Given the description of an element on the screen output the (x, y) to click on. 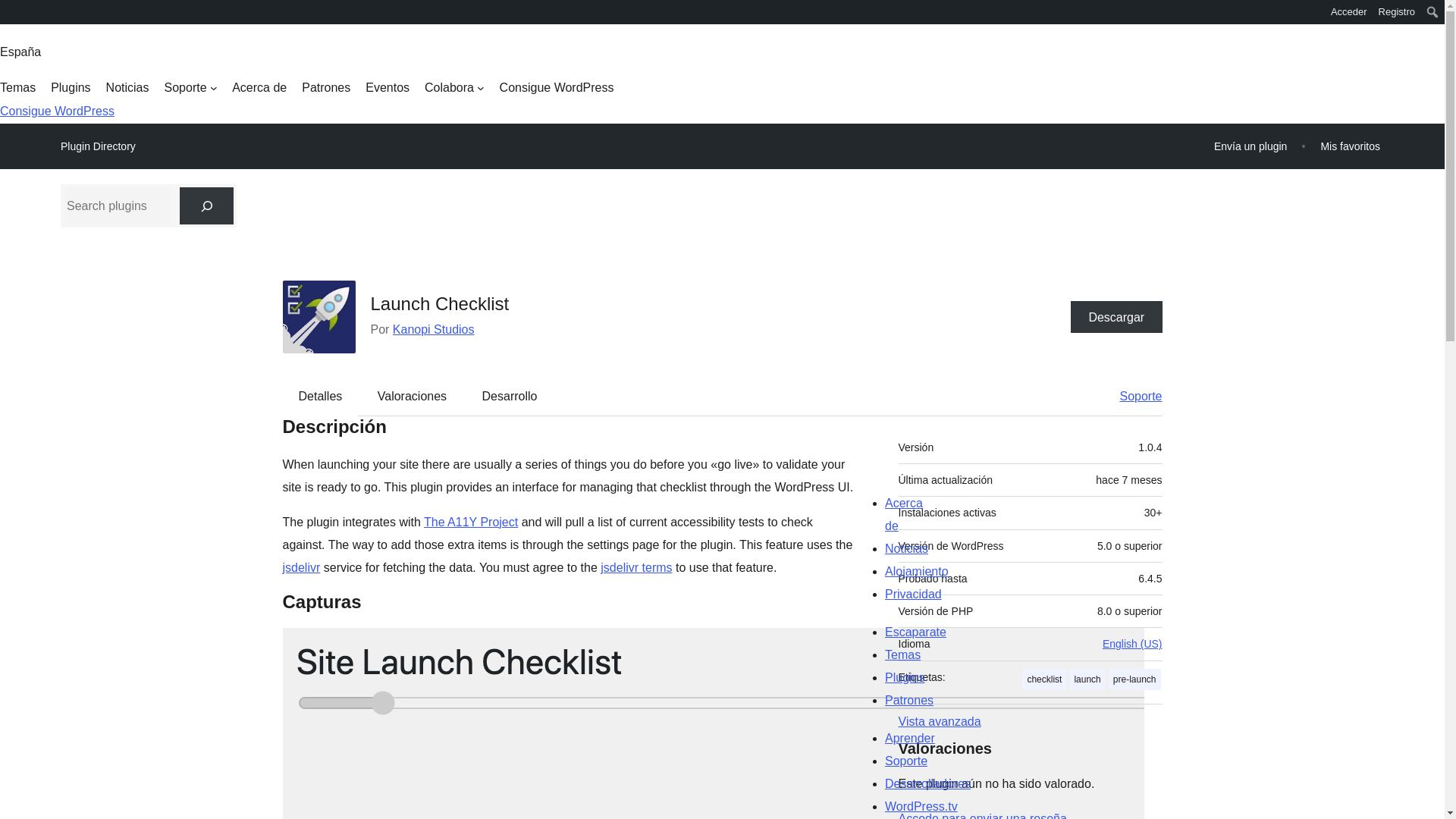
WordPress.org (10, 16)
Noticias (127, 87)
Soporte (1132, 395)
Acceder (1348, 12)
Detalles (320, 395)
Plugin Directory (97, 146)
Consigue WordPress (556, 87)
Buscar (16, 13)
jsdelivr (301, 567)
Temas (17, 87)
Consigue WordPress (57, 110)
Soporte (190, 87)
Acerca de (258, 87)
Mis favoritos (1350, 145)
Patrones (325, 87)
